Given the description of an element on the screen output the (x, y) to click on. 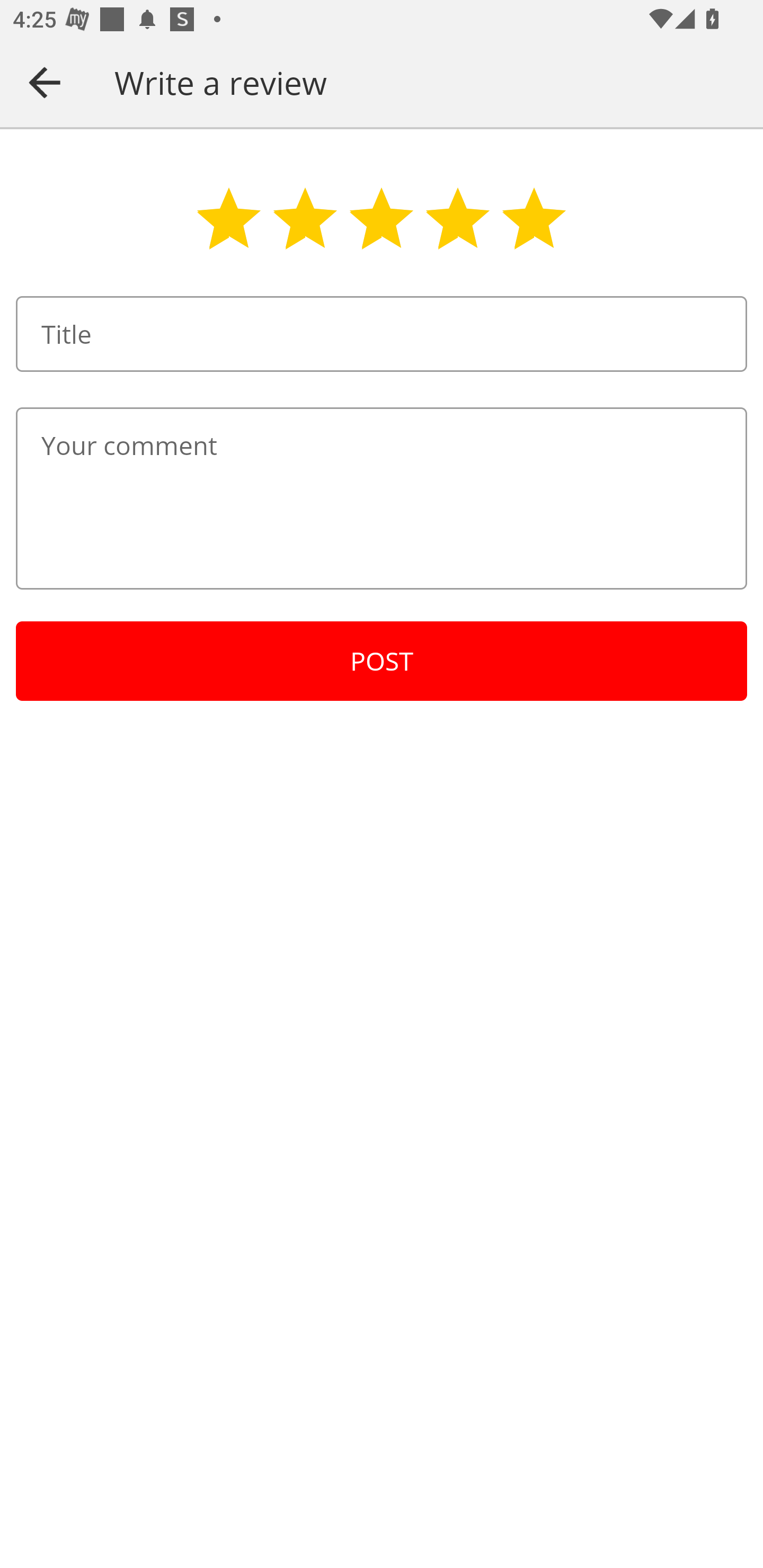
Navigate up (44, 82)
Title (381, 333)
Your comment (381, 498)
POST (381, 660)
